Given the description of an element on the screen output the (x, y) to click on. 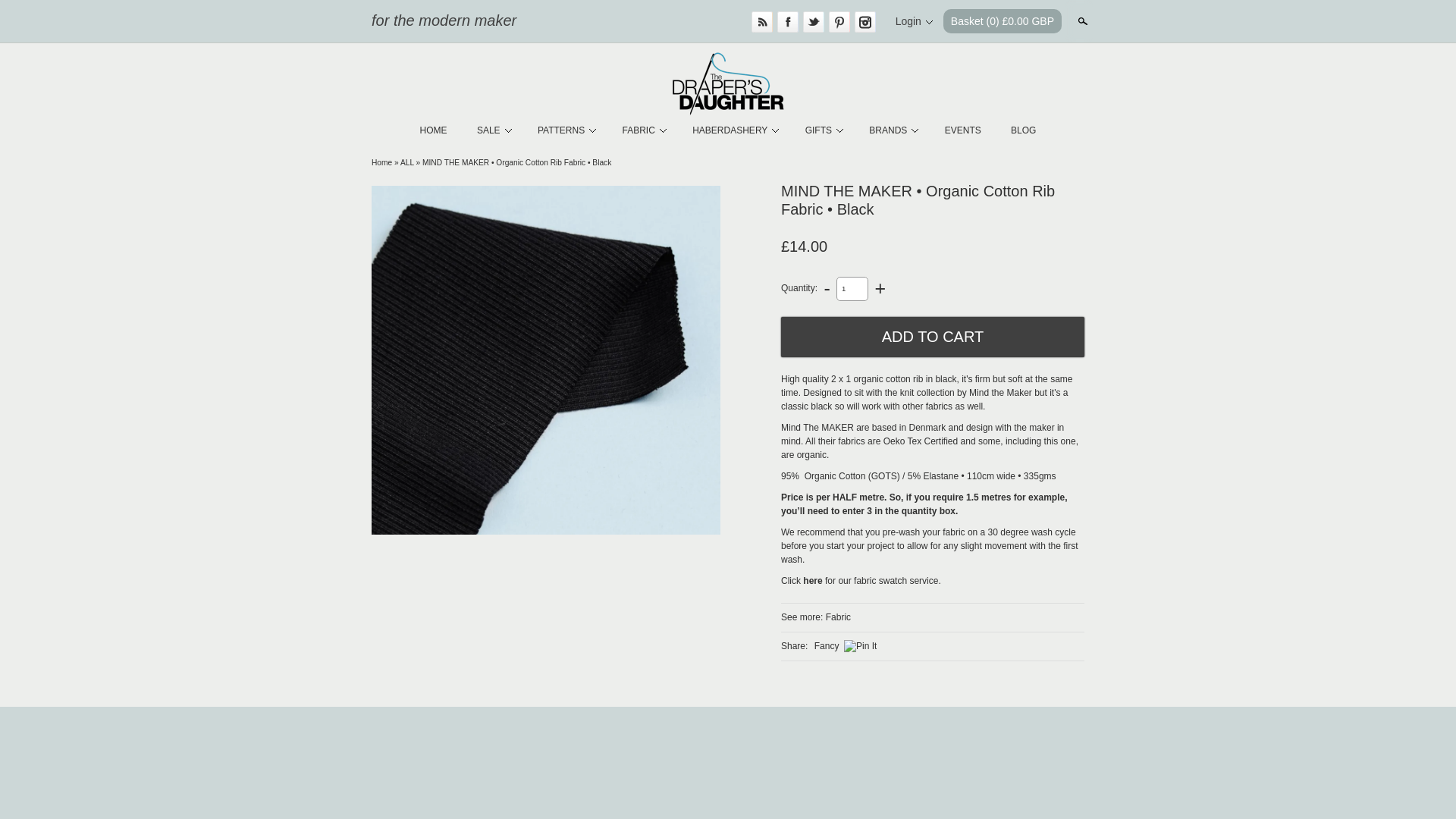
Facebook (787, 21)
Twitter (813, 21)
Pinterest (839, 21)
RSS (762, 21)
Instagram (865, 21)
Facebook (787, 21)
Login (914, 21)
Add to Cart (932, 336)
Pinterest (839, 21)
SALE (492, 130)
